Given the description of an element on the screen output the (x, y) to click on. 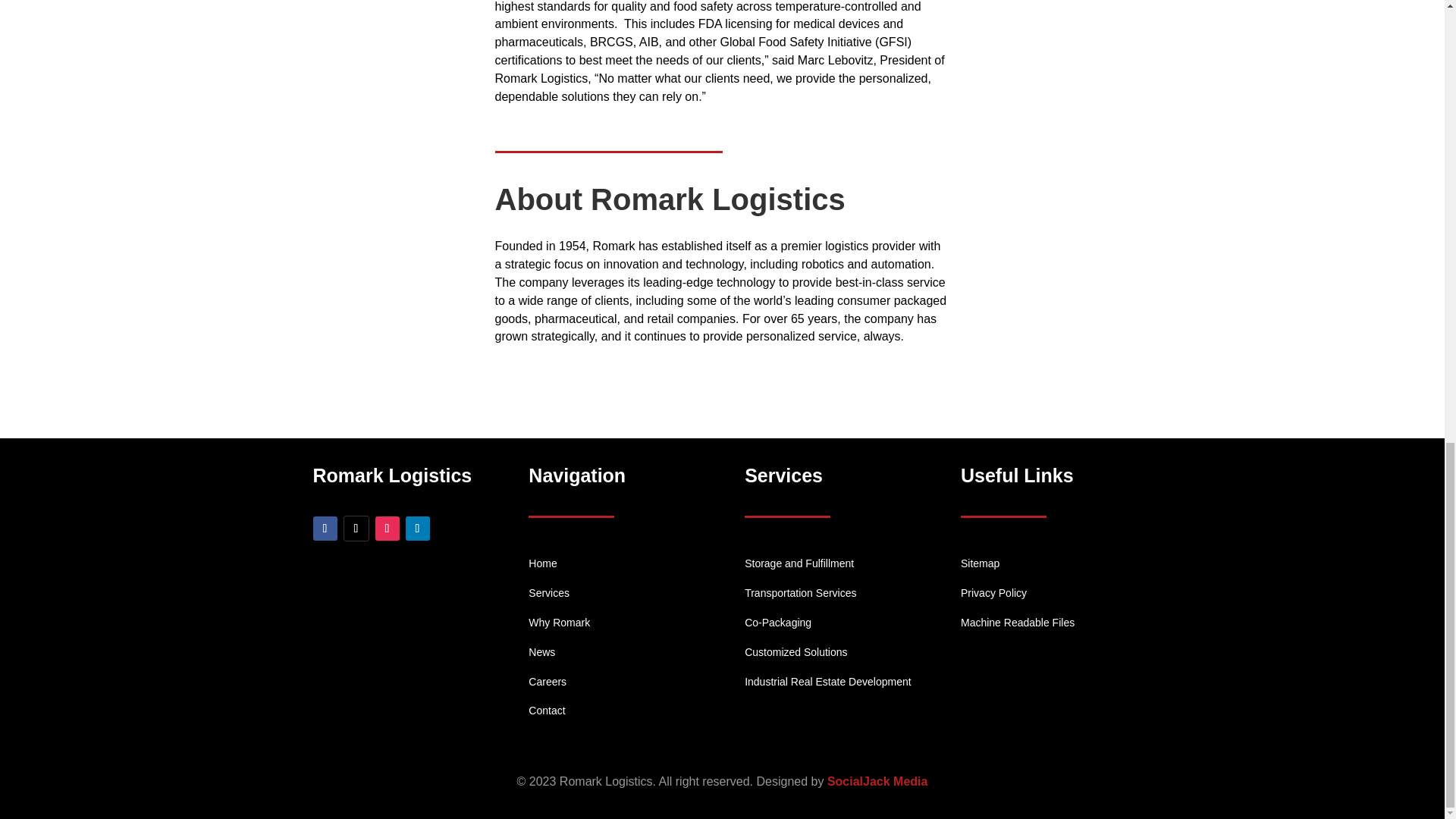
Follow on LinkedIn (416, 528)
SocialJack Media (877, 780)
Follow on Facebook (324, 528)
Follow on X (355, 528)
Follow on Instagram (386, 528)
